Given the description of an element on the screen output the (x, y) to click on. 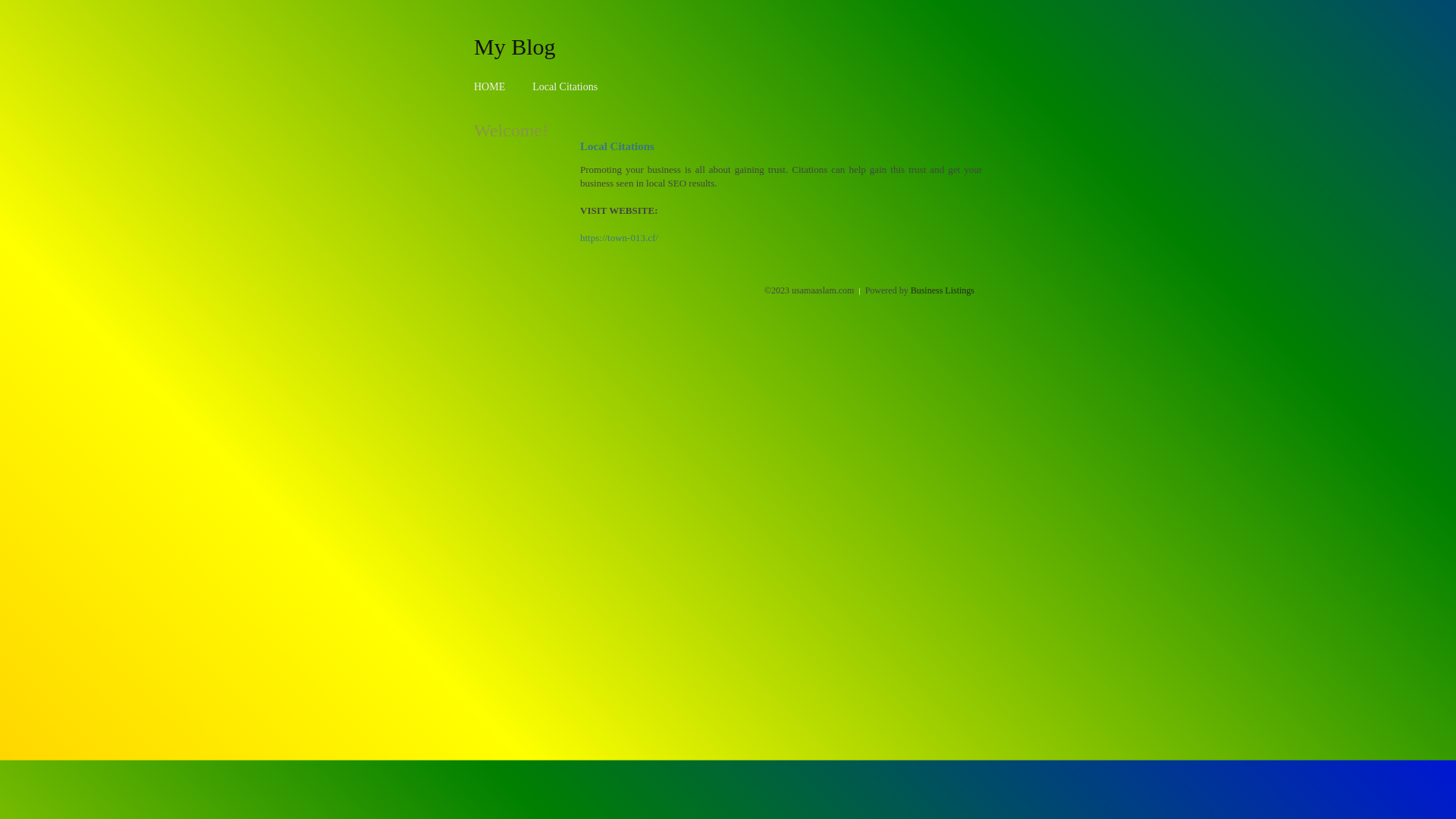
https://town-013.cf/ Element type: text (619, 237)
Business Listings Element type: text (942, 290)
Local Citations Element type: text (564, 86)
My Blog Element type: text (514, 46)
HOME Element type: text (489, 86)
